Given the description of an element on the screen output the (x, y) to click on. 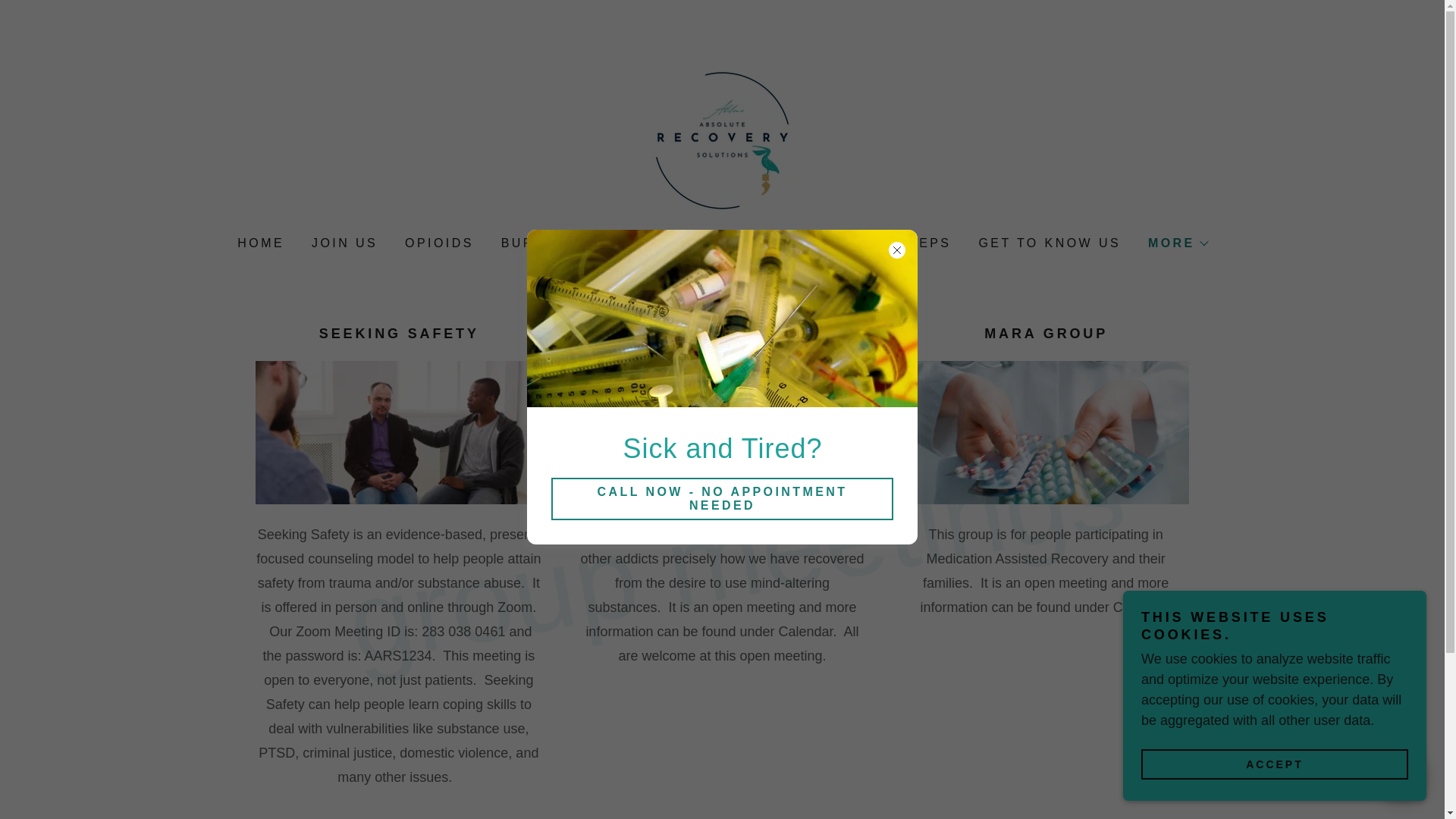
TREATMENT STEPS (872, 243)
GET TO KNOW US (1048, 243)
HOME (259, 243)
BUPRENORPHINE (569, 243)
JOIN US (342, 243)
MORE (1176, 243)
METHADONE (717, 243)
OPIOIDS (438, 243)
